Given the description of an element on the screen output the (x, y) to click on. 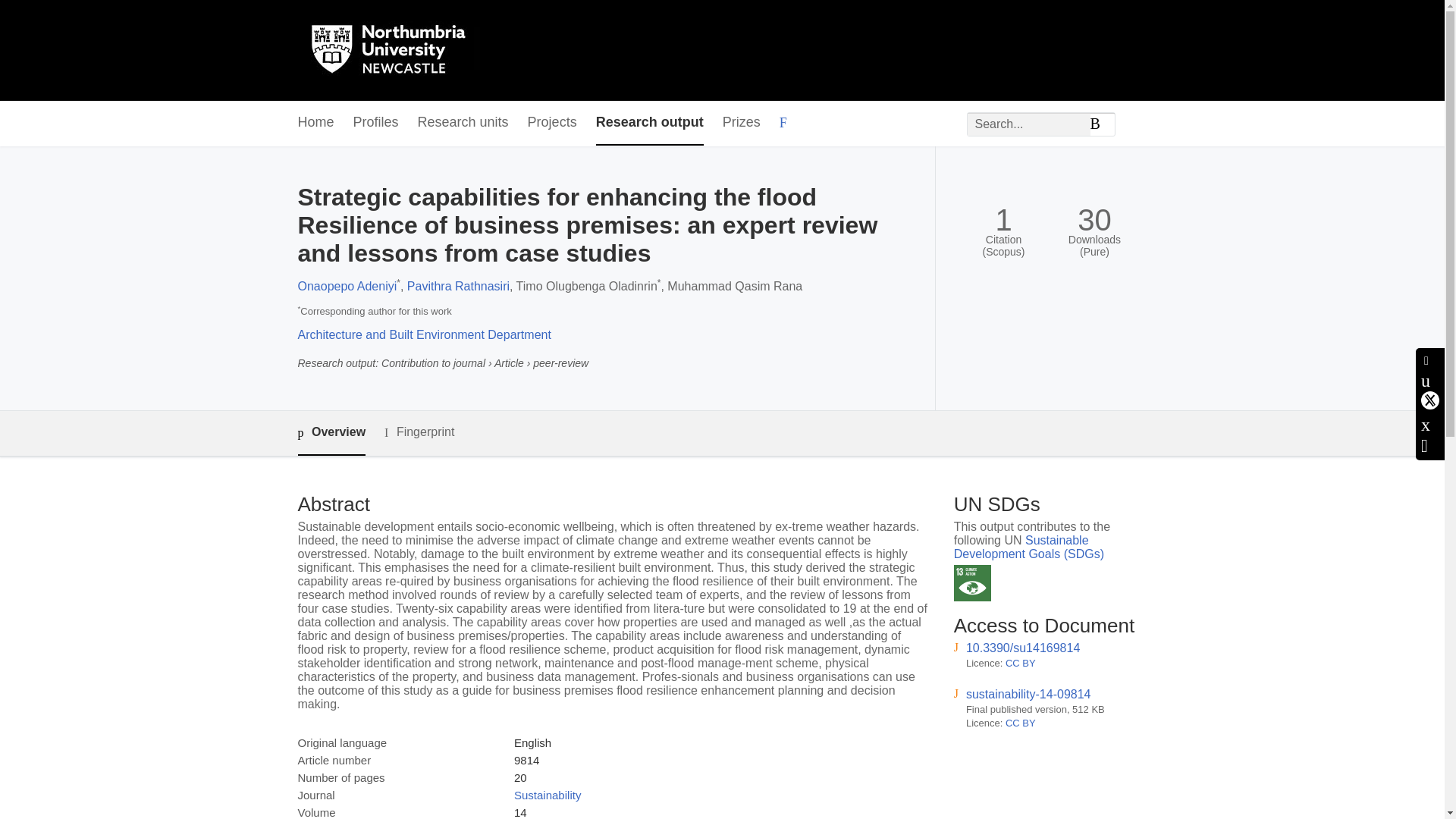
sustainability-14-09814 (1028, 694)
CC BY (1020, 722)
Onaopepo Adeniyi (346, 286)
Architecture and Built Environment Department (423, 334)
Northumbria University Research Portal Home (398, 50)
Fingerprint (419, 432)
Overview (331, 433)
Projects (551, 122)
Sustainability (546, 794)
Research units (462, 122)
CC BY (1020, 663)
Profiles (375, 122)
Pavithra Rathnasiri (458, 286)
Research output (649, 122)
